Given the description of an element on the screen output the (x, y) to click on. 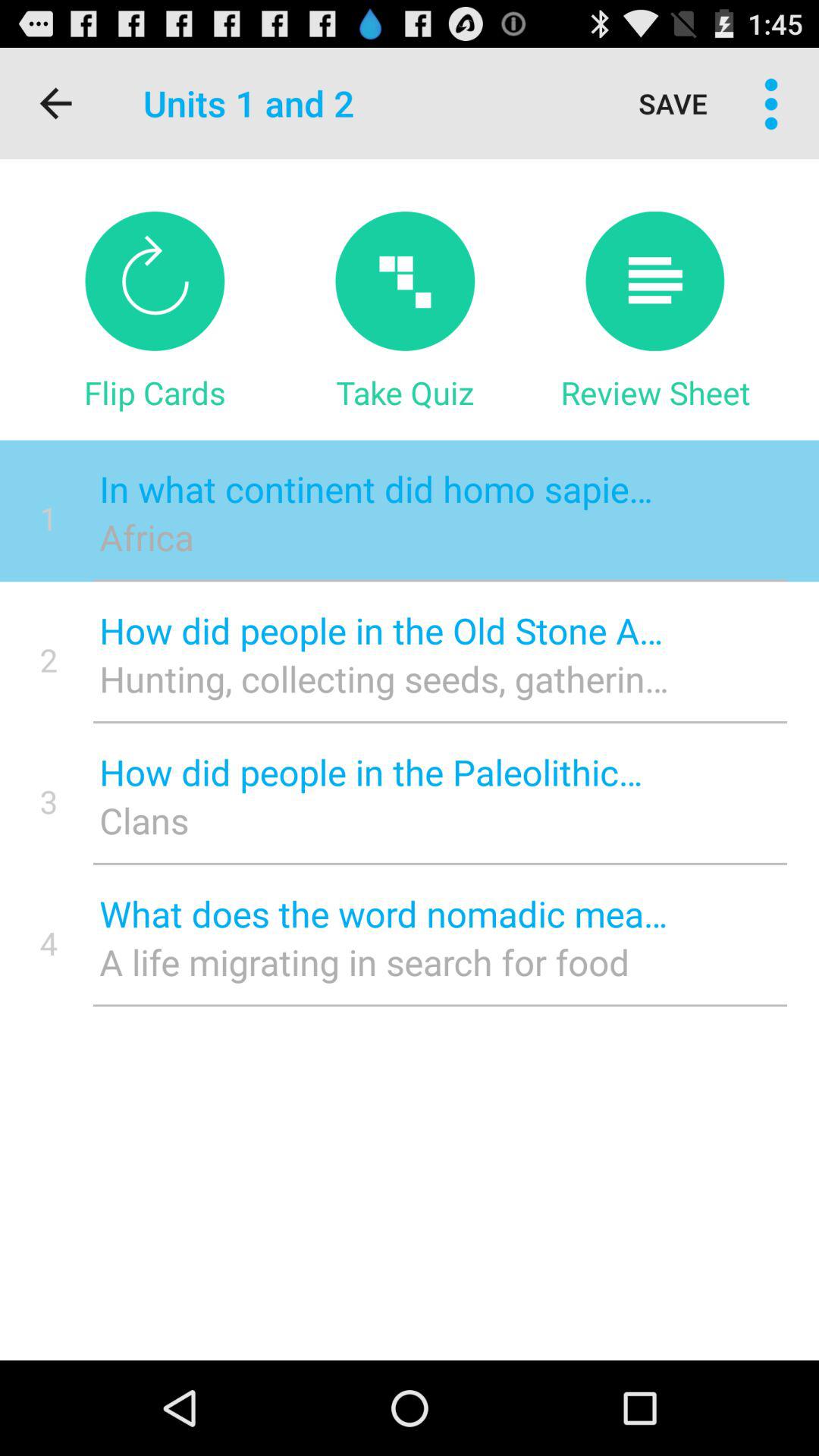
swipe to the flip cards item (154, 392)
